Given the description of an element on the screen output the (x, y) to click on. 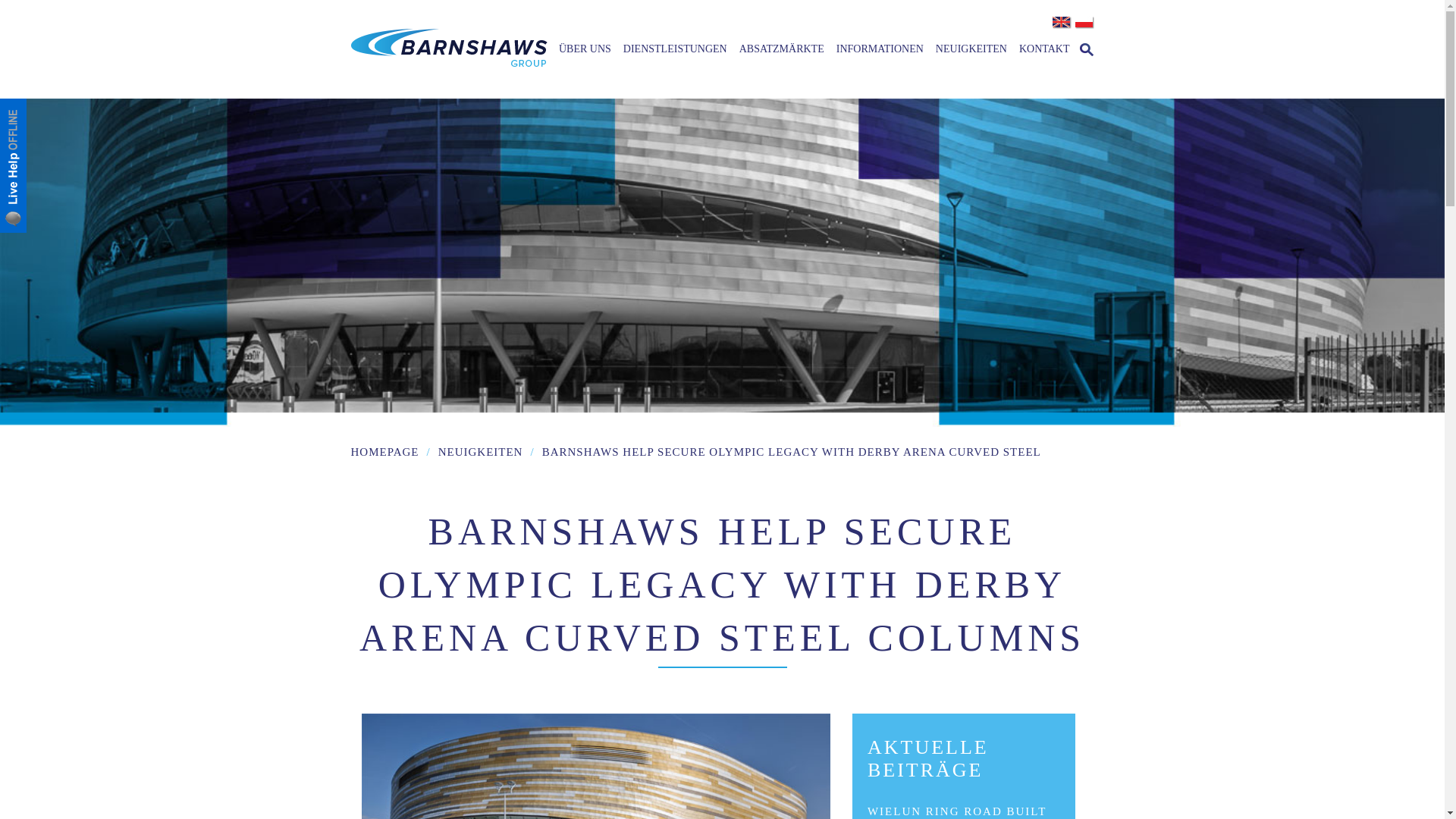
DIENSTLEISTUNGEN (675, 48)
Barnshaws Home Page (448, 48)
INFORMATIONEN (879, 48)
Barnshaws Home Page (448, 2)
